Given the description of an element on the screen output the (x, y) to click on. 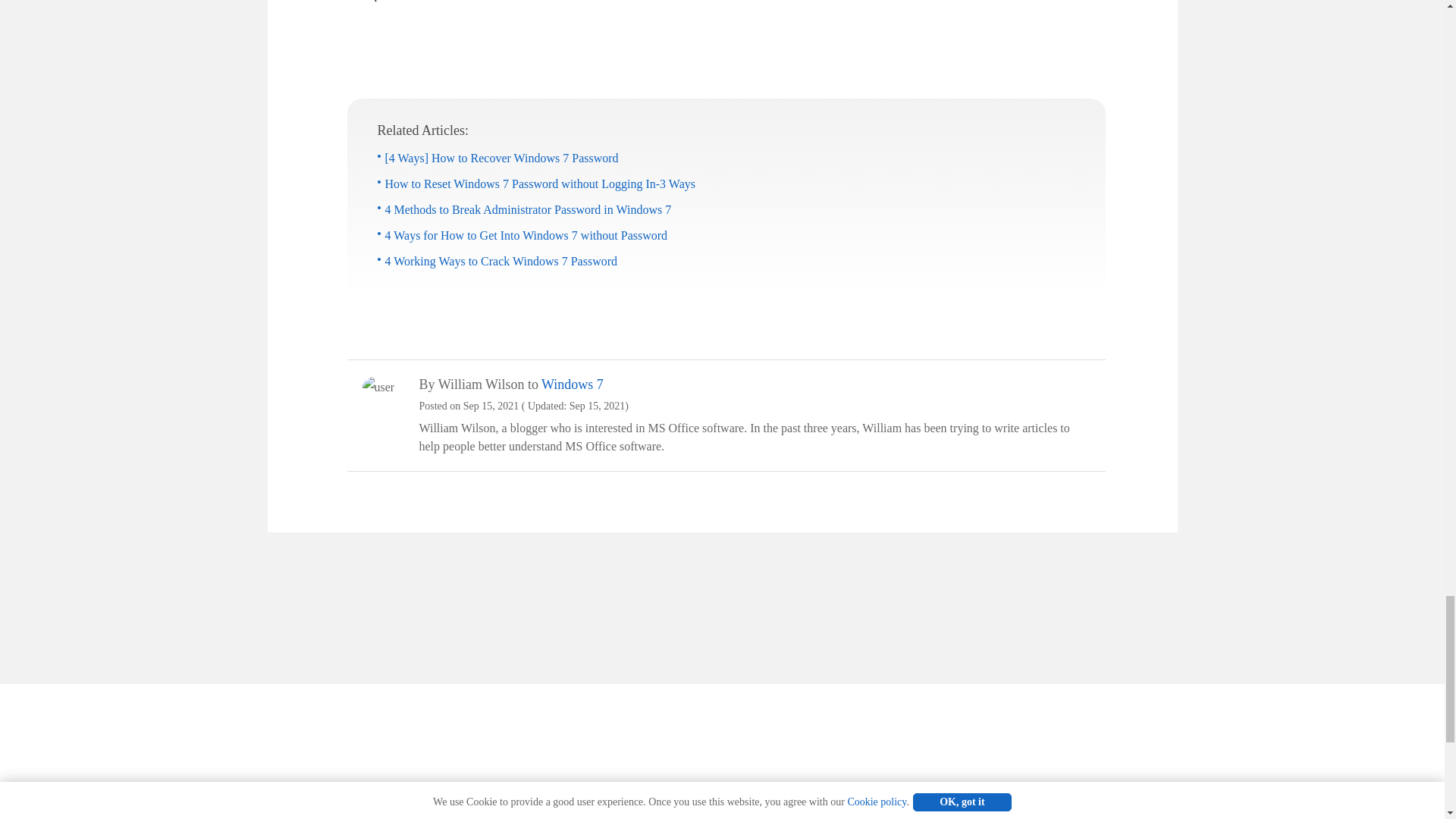
twitter (1107, 807)
youtube (1134, 807)
